Given the description of an element on the screen output the (x, y) to click on. 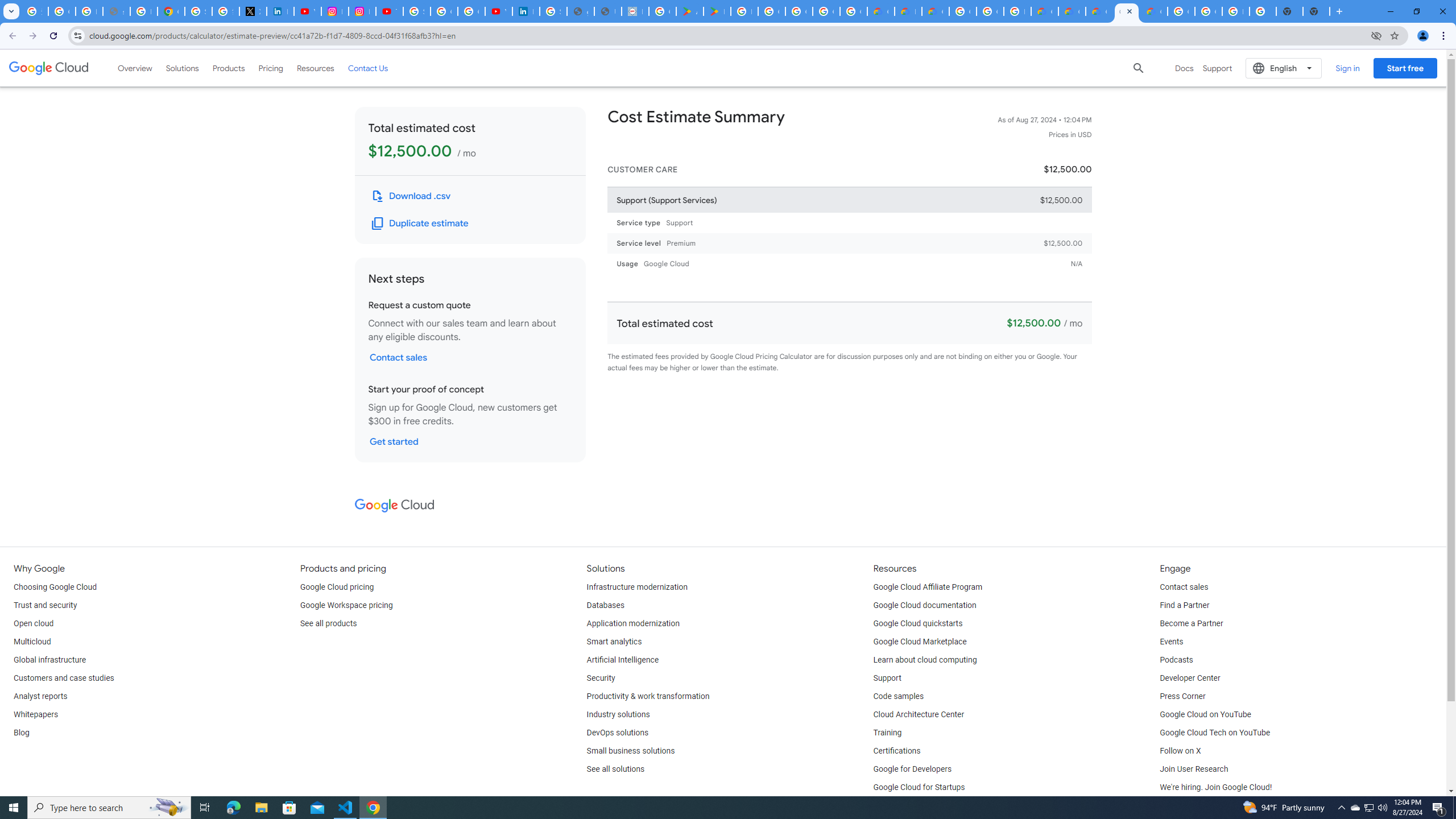
Google Cloud Affiliate Program (927, 587)
New Tab (1316, 11)
Google Workspace - Specific Terms (826, 11)
Certifications (896, 751)
Contact Us (368, 67)
Cloud Architecture Center (918, 714)
Google Cloud Service Health (1153, 11)
